Given the description of an element on the screen output the (x, y) to click on. 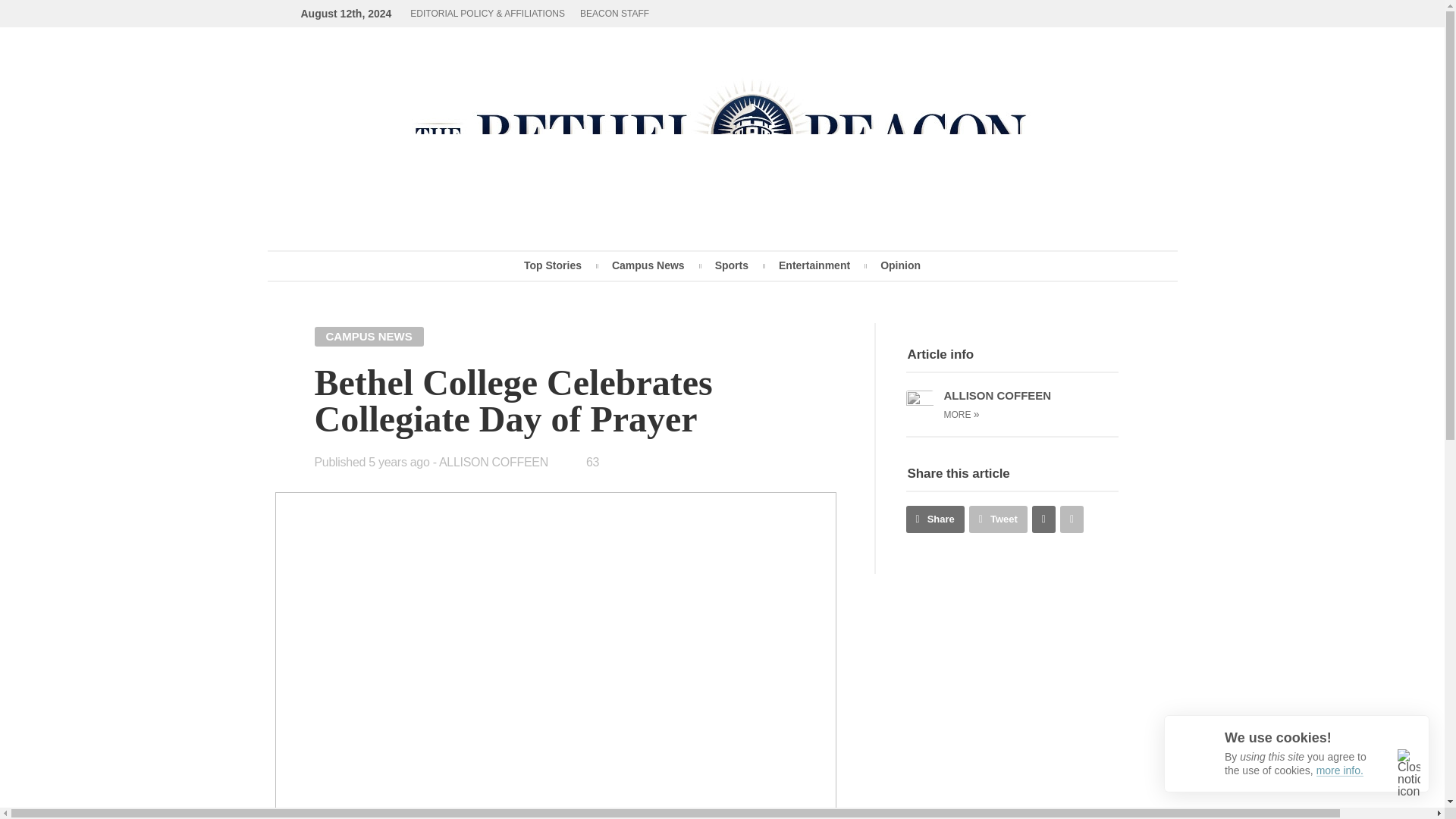
Opinion (900, 265)
Share (934, 519)
Entertainment (813, 265)
Tweet (998, 519)
Top Stories (552, 265)
BEACON STAFF (614, 13)
Campus News (648, 265)
Search (948, 163)
ALLISON COFFEEN (493, 461)
Sports (732, 265)
